Given the description of an element on the screen output the (x, y) to click on. 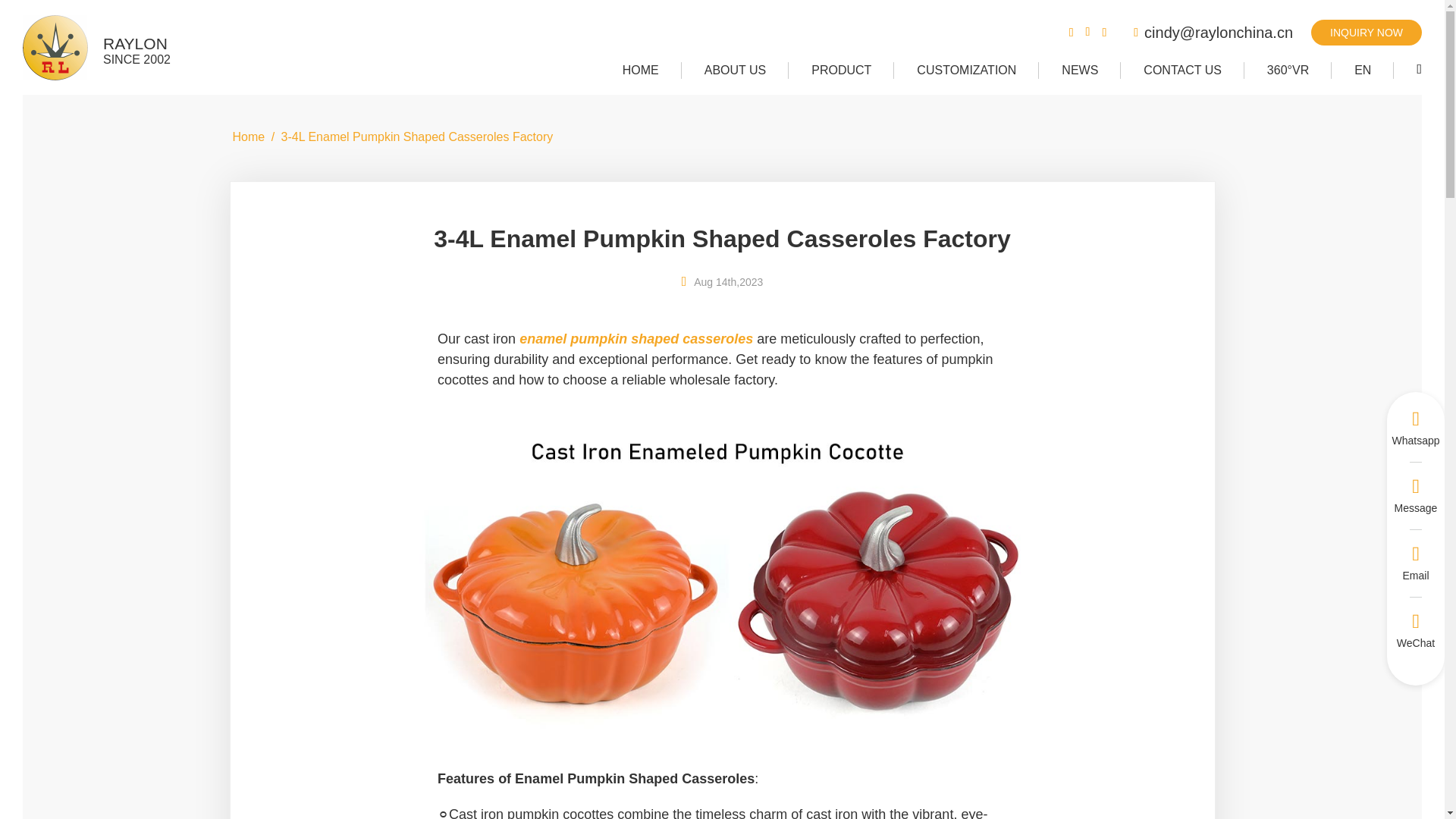
Message (1366, 32)
EN (1362, 70)
ABOUT US (735, 70)
enamel pumpkin shaped casseroles (635, 338)
PRODUCT (841, 70)
INQUIRY NOW (1366, 32)
HOME (96, 47)
CONTACT US (640, 70)
CUSTOMIZATION (1182, 70)
